Given the description of an element on the screen output the (x, y) to click on. 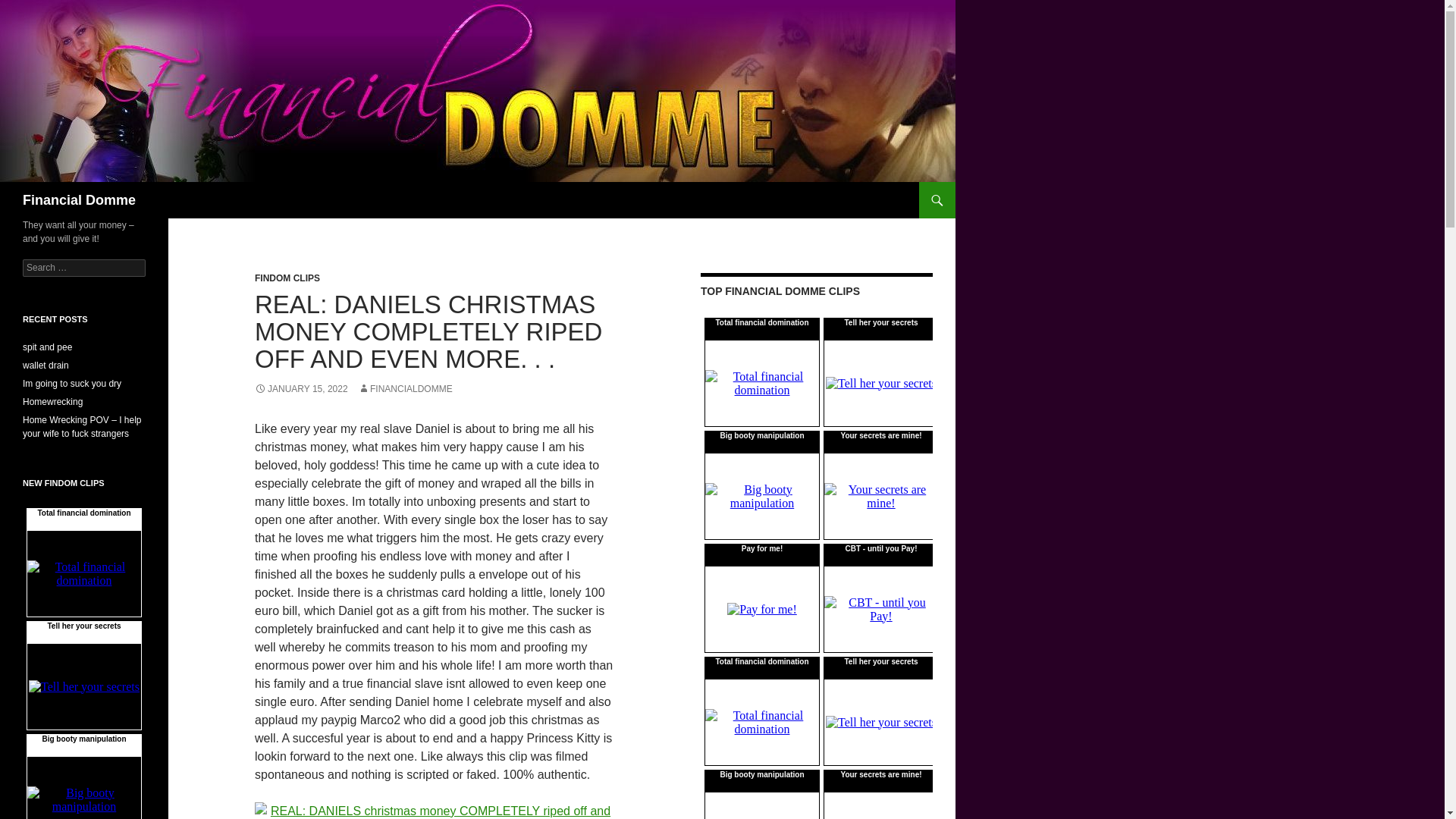
FINANCIALDOMME (405, 388)
JANUARY 15, 2022 (300, 388)
FINDOM CLIPS (287, 277)
Financial Domme (79, 199)
